Given the description of an element on the screen output the (x, y) to click on. 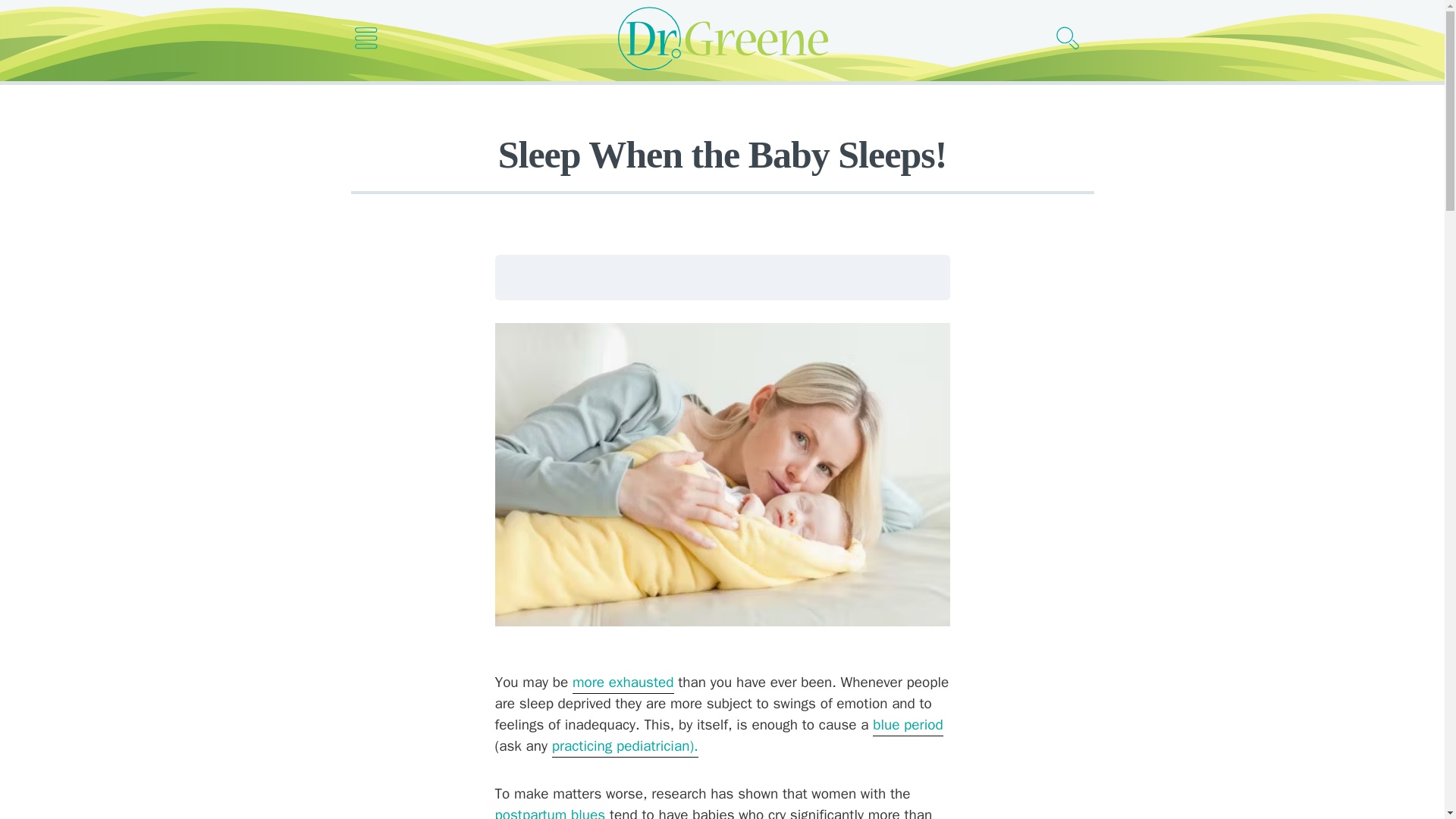
blue period (907, 725)
Dr Greene logo (721, 37)
more exhausted (623, 683)
postpartum blues (550, 812)
